Given the description of an element on the screen output the (x, y) to click on. 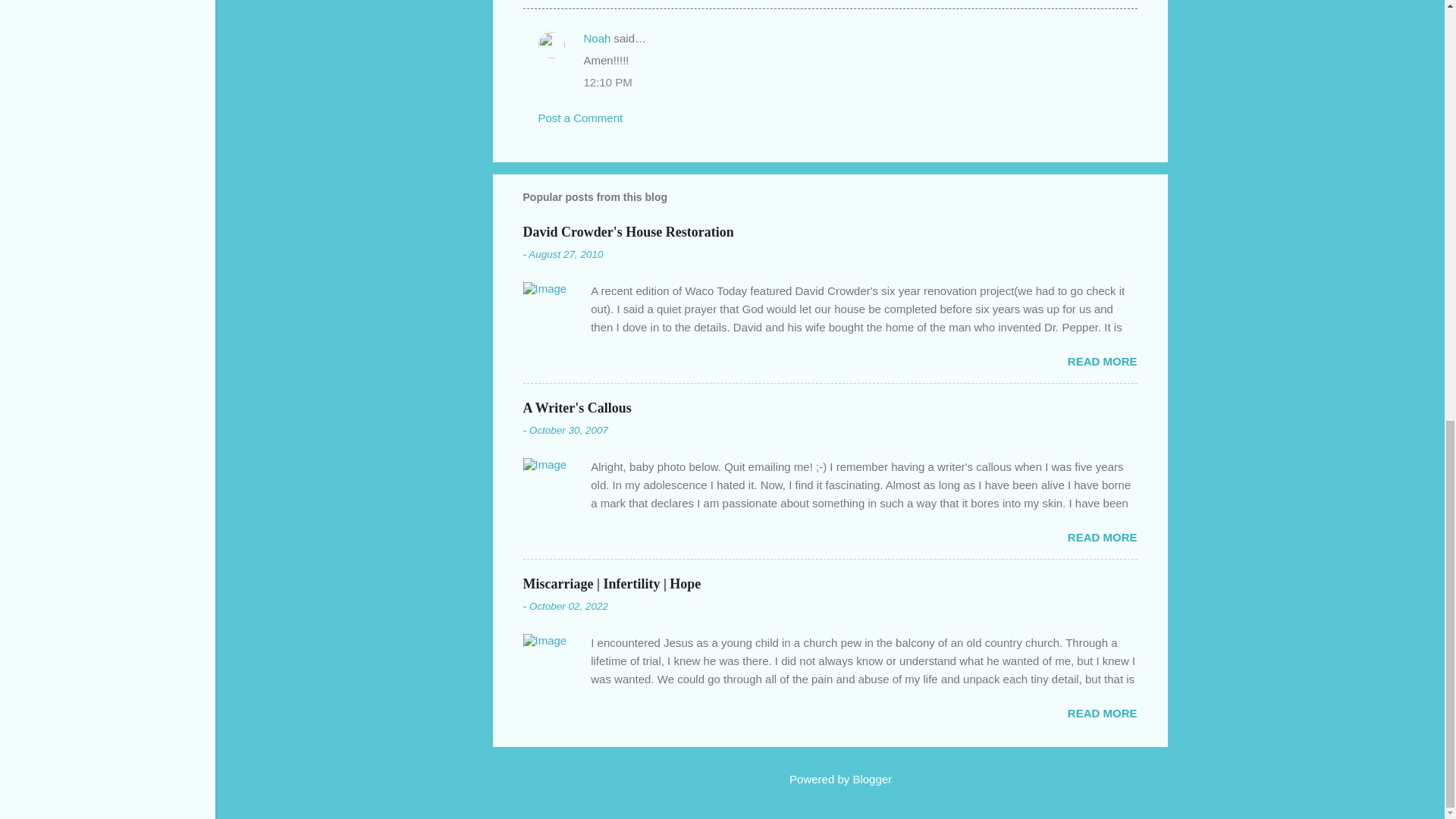
Noah (597, 38)
October 02, 2022 (568, 605)
August 27, 2010 (565, 254)
comment permalink (607, 82)
October 30, 2007 (568, 430)
Post a Comment (580, 117)
READ MORE (1102, 360)
12:10 PM (607, 82)
A Writer's Callous (576, 407)
READ MORE (1102, 712)
